Given the description of an element on the screen output the (x, y) to click on. 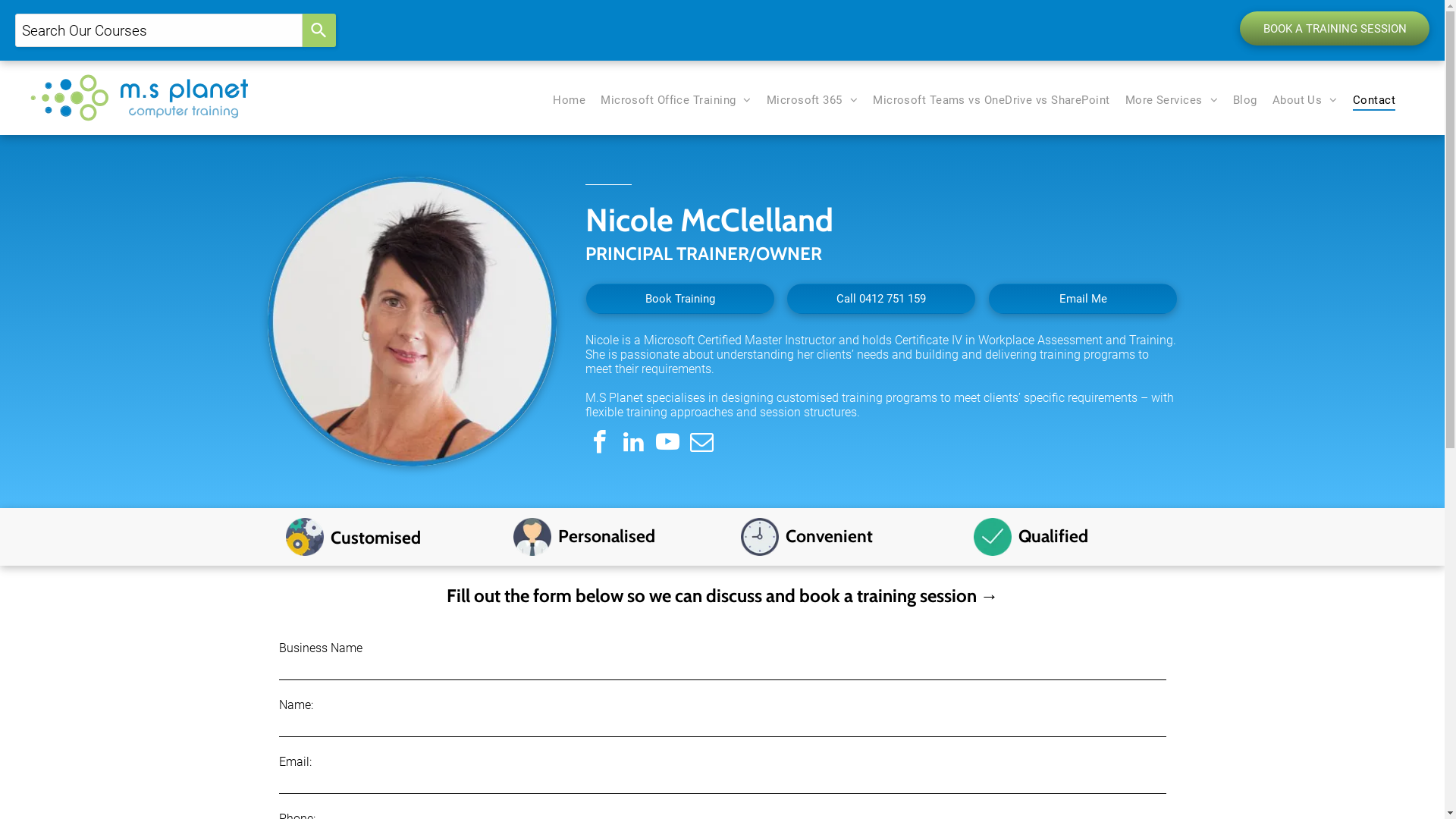
Nicole McClelland Element type: hover (411, 321)
Microsoft Teams vs OneDrive vs SharePoint Element type: text (991, 99)
Email Me Element type: text (1082, 298)
Blog Element type: text (1244, 99)
Book Training Element type: text (680, 298)
About Us Element type: text (1304, 99)
BOOK A TRAINING SESSION Element type: text (1334, 28)
Microsoft Office Training Element type: text (676, 99)
Home Element type: text (569, 99)
Call 0412 751 159 Element type: text (881, 298)
M.S Planet Computer Training Element type: hover (140, 96)
Microsoft 365 Element type: text (812, 99)
More Services Element type: text (1171, 99)
Contact Element type: text (1373, 99)
